Given the description of an element on the screen output the (x, y) to click on. 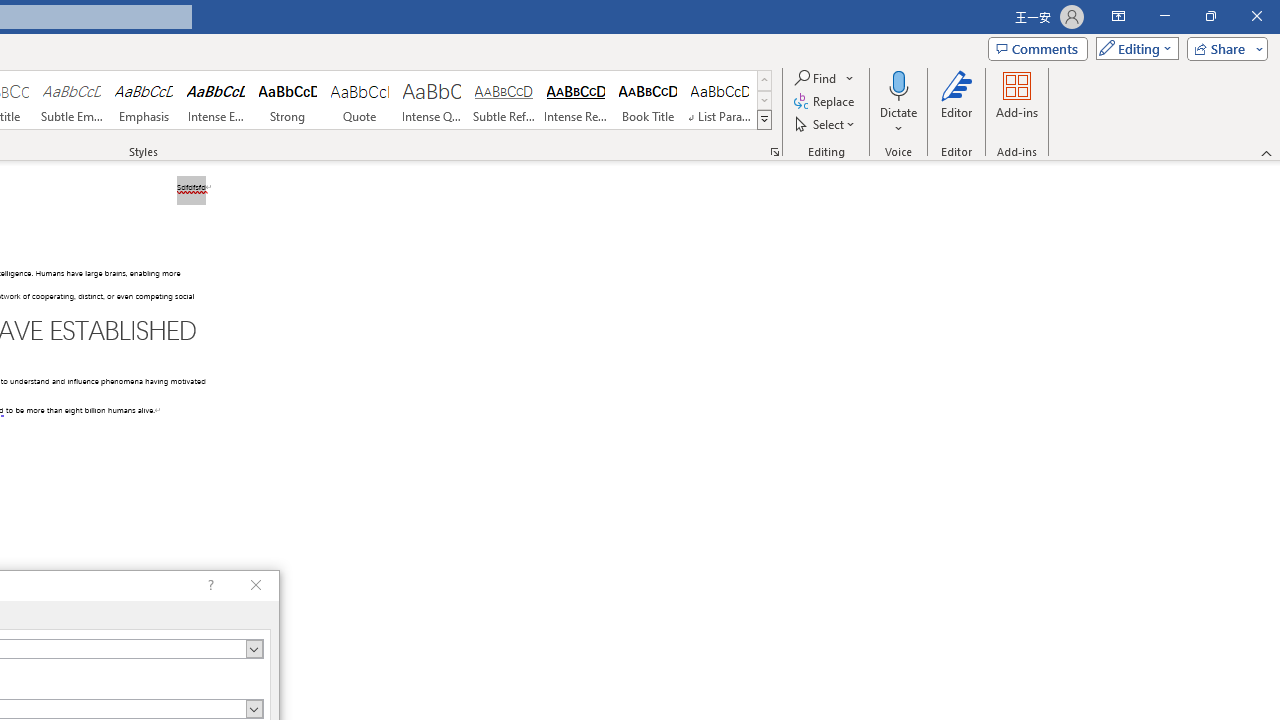
Intense Reference (575, 100)
Class: NetUIImage (765, 119)
Subtle Emphasis (71, 100)
Collapse the Ribbon (1267, 152)
More Options (899, 121)
Share (1223, 48)
Book Title (647, 100)
Comments (1038, 48)
Close (1256, 16)
Strong (287, 100)
Dictate (899, 102)
Editor (956, 102)
Ribbon Display Options (1118, 16)
Styles (763, 120)
Intense Emphasis (216, 100)
